Given the description of an element on the screen output the (x, y) to click on. 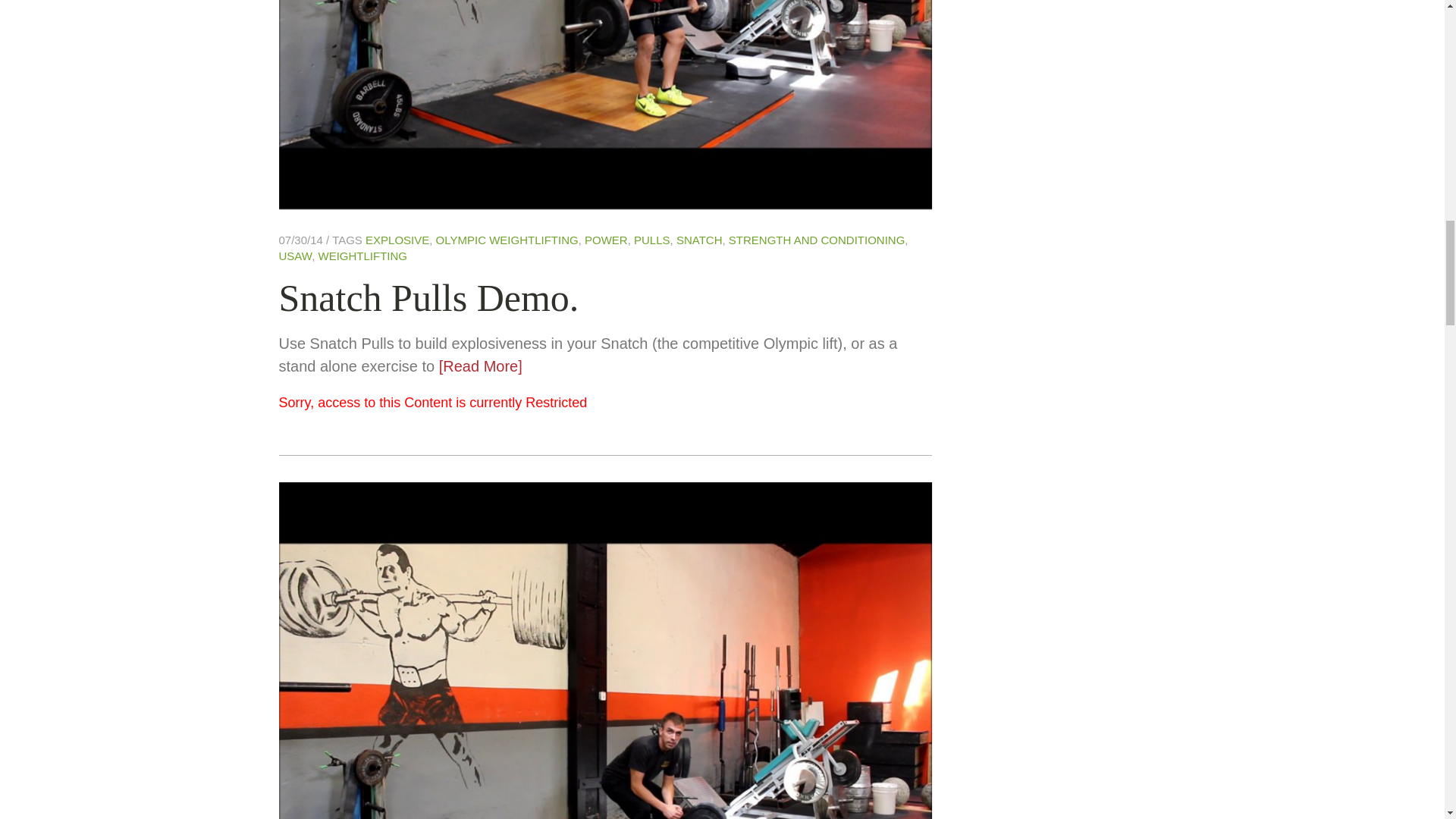
EXPLOSIVE (397, 239)
PULLS (651, 239)
STRENGTH AND CONDITIONING (817, 239)
POWER (606, 239)
OLYMPIC WEIGHTLIFTING (506, 239)
SNATCH (699, 239)
Snatch Pulls Demo. (429, 297)
USAW (296, 255)
WEIGHTLIFTING (362, 255)
